Given the description of an element on the screen output the (x, y) to click on. 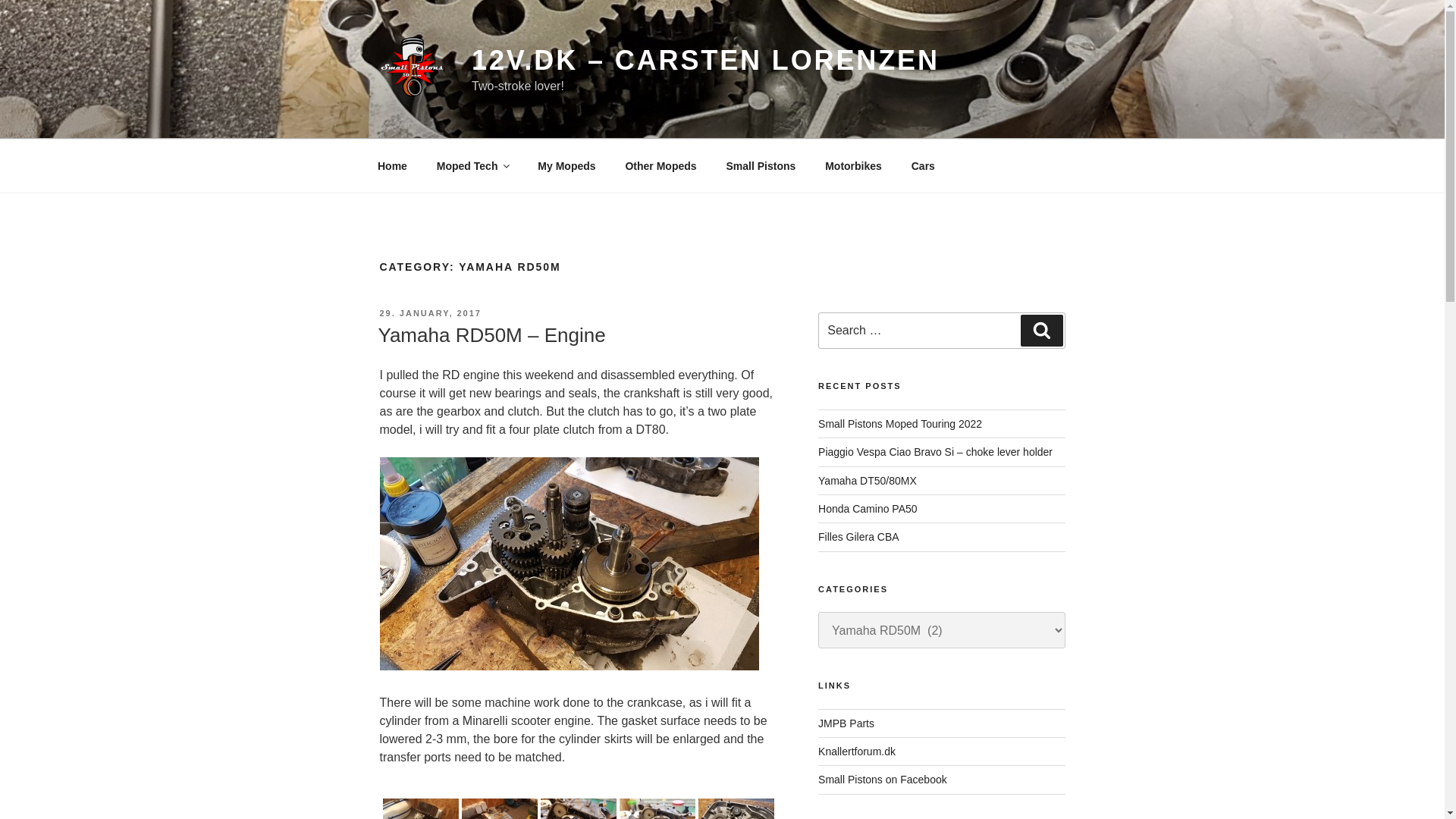
Other Mopeds (660, 165)
5 speed engine with Polini kit. (420, 808)
The engine is in good condition. (499, 808)
Small Pistons (761, 165)
Home (392, 165)
Moped Tech (472, 165)
The oil is grey, this is caused by moisture. (736, 808)
Clutch holding tool. (657, 808)
My Mopeds (566, 165)
Cars (922, 165)
